Given the description of an element on the screen output the (x, y) to click on. 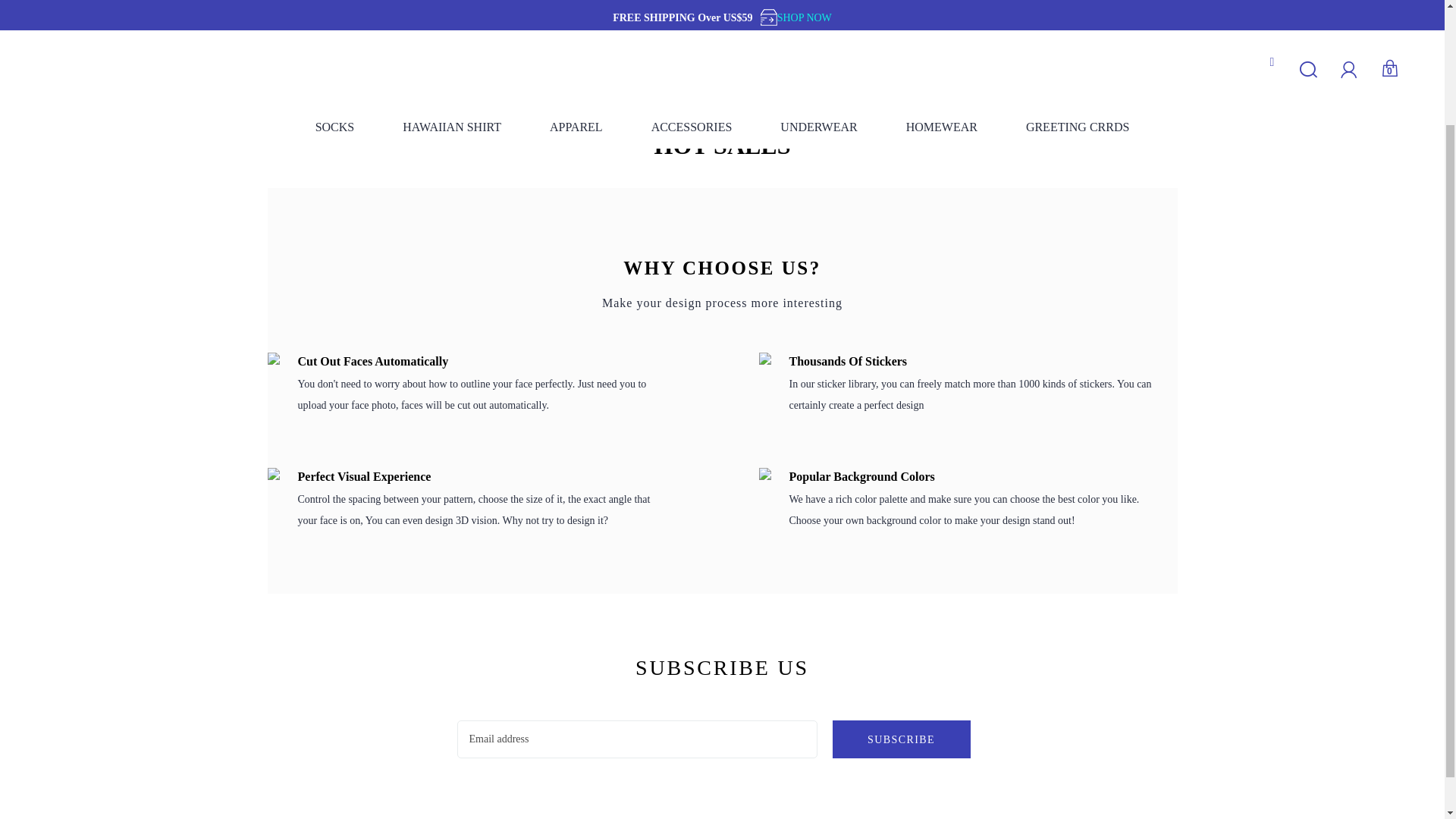
subscribe (901, 739)
Home (279, 101)
